Given the description of an element on the screen output the (x, y) to click on. 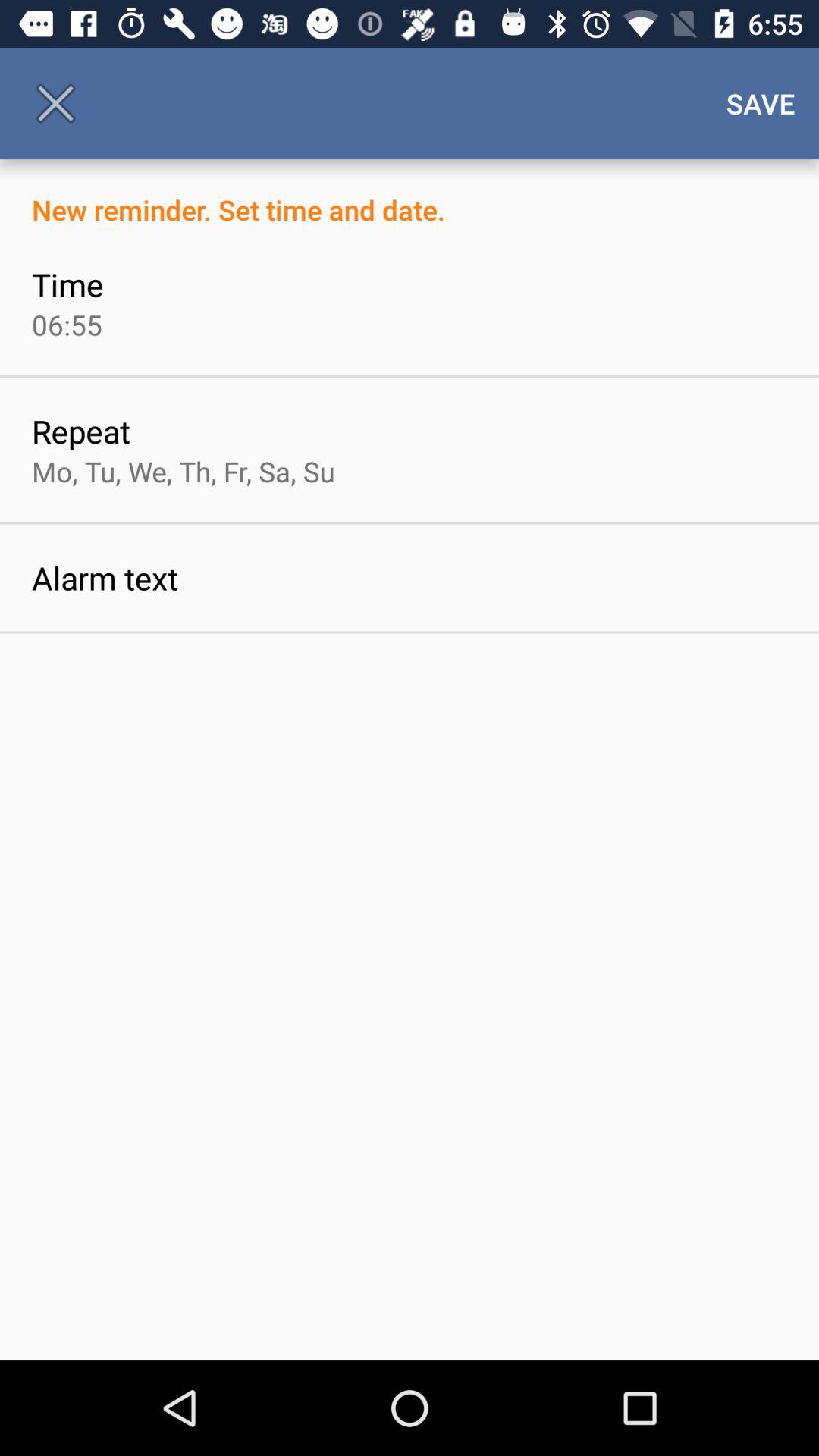
swipe to mo tu we (182, 471)
